Given the description of an element on the screen output the (x, y) to click on. 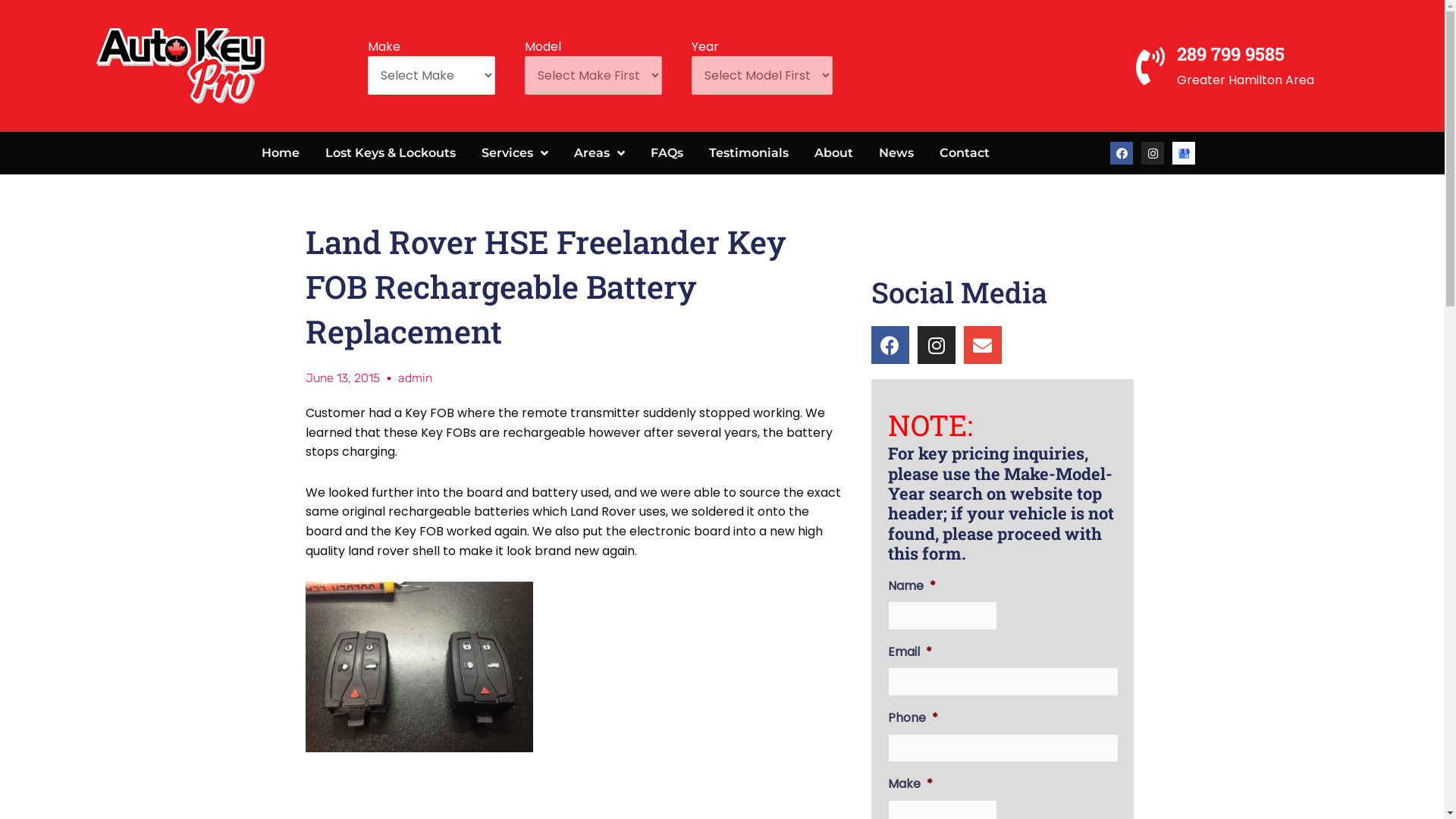
Envelope Element type: text (982, 345)
Testimonials Element type: text (748, 152)
Services Element type: text (514, 152)
FAQs Element type: text (666, 152)
Instagram Element type: text (1152, 152)
About Element type: text (832, 152)
Home Element type: text (280, 152)
Facebook Element type: text (890, 345)
June 13, 2015 Element type: text (341, 378)
Contact Element type: text (964, 152)
Lost Keys & Lockouts Element type: text (390, 152)
289 799 9585 Element type: text (1230, 53)
Instagram Element type: text (936, 345)
Areas Element type: text (599, 152)
Facebook Element type: text (1121, 152)
News Element type: text (896, 152)
Auto Key Pro Element type: text (1183, 152)
admin Element type: text (414, 378)
